Given the description of an element on the screen output the (x, y) to click on. 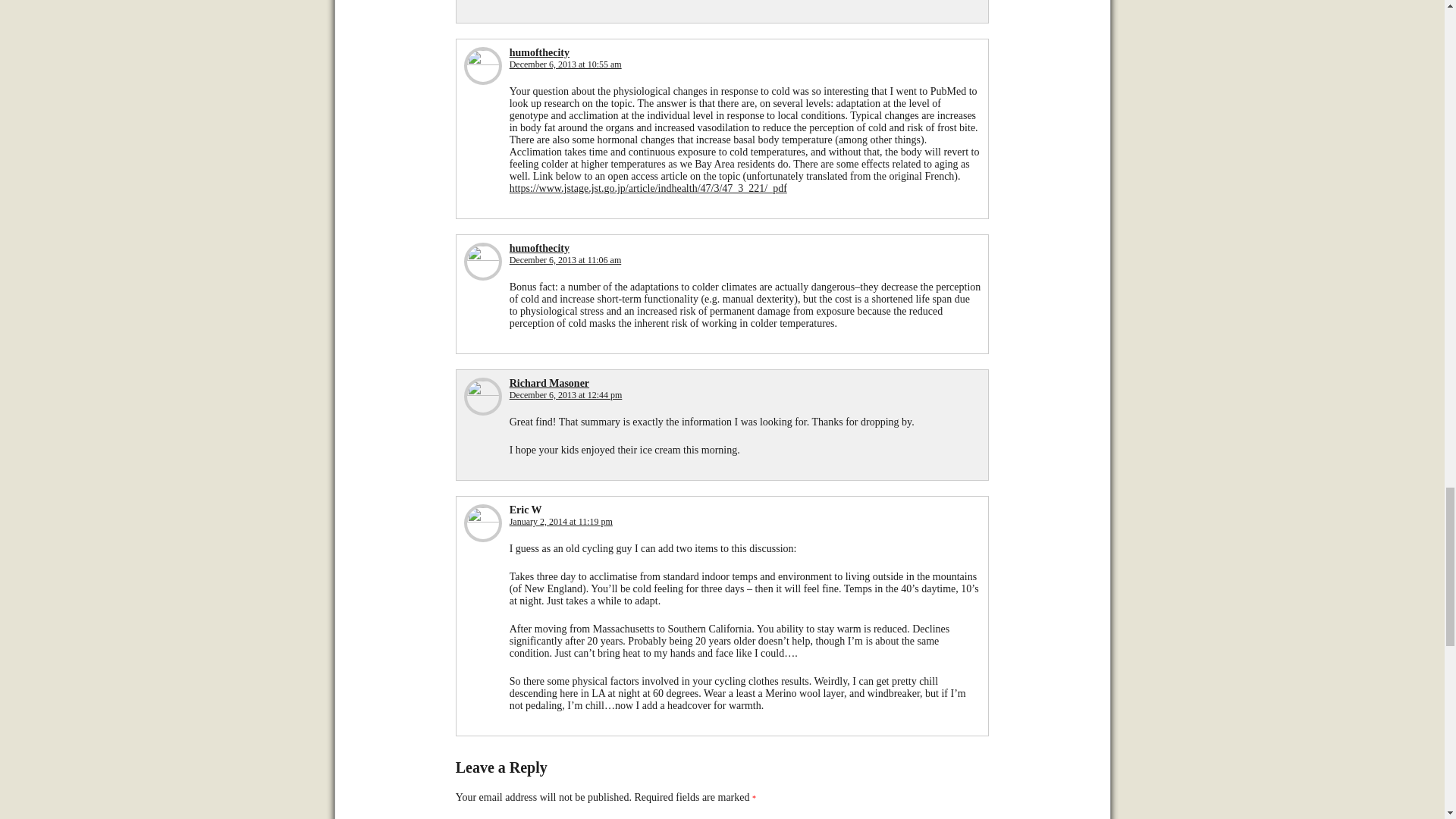
humofthecity (539, 247)
December 6, 2013 at 12:44 pm (566, 394)
Richard Masoner (549, 383)
December 6, 2013 at 11:06 am (565, 259)
humofthecity (539, 52)
December 6, 2013 at 10:55 am (565, 63)
January 2, 2014 at 11:19 pm (560, 521)
